Given the description of an element on the screen output the (x, y) to click on. 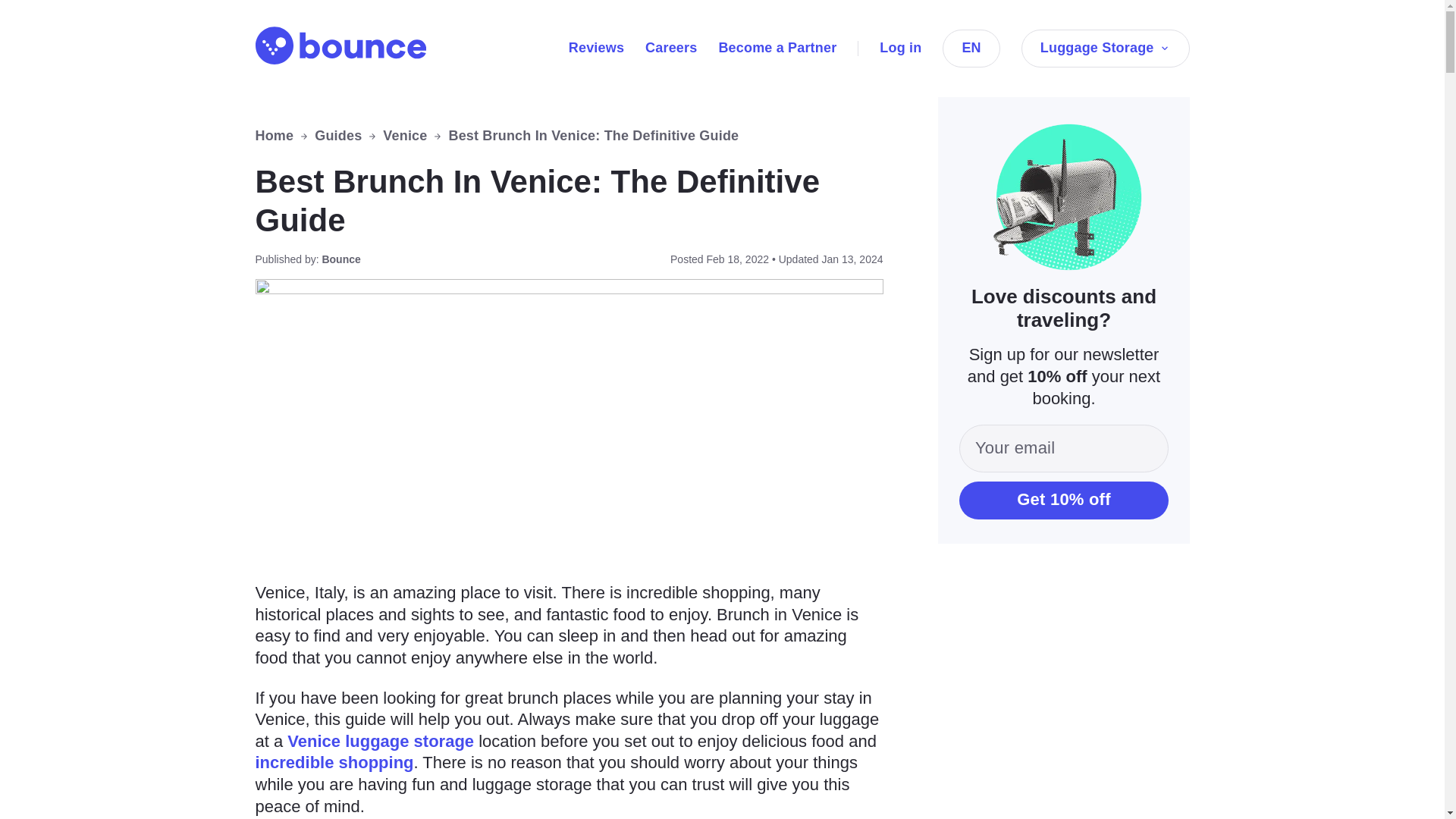
Become a Partner (776, 47)
Bounce (339, 45)
Luggage Storage (1105, 48)
Venice luggage storage (380, 741)
Venice (404, 135)
Reviews (596, 47)
Careers (671, 47)
incredible shopping (333, 762)
Guides (337, 135)
EN (970, 48)
Log in (900, 47)
Home (274, 135)
